Given the description of an element on the screen output the (x, y) to click on. 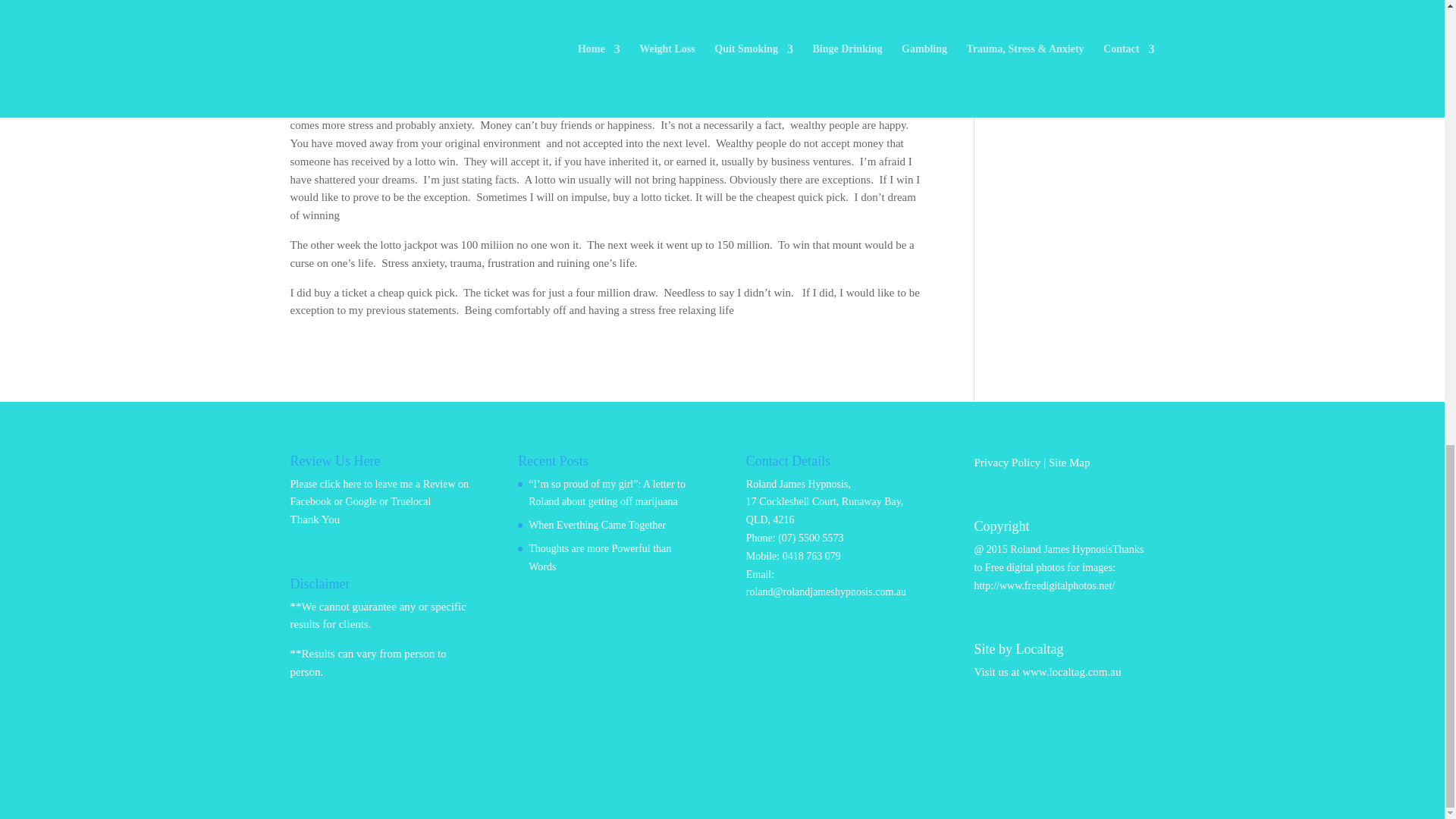
Privacy Policy (1007, 462)
When Everthing Came Together (596, 524)
Thoughts are more Powerful than Words (599, 557)
Site Map (1069, 462)
